Given the description of an element on the screen output the (x, y) to click on. 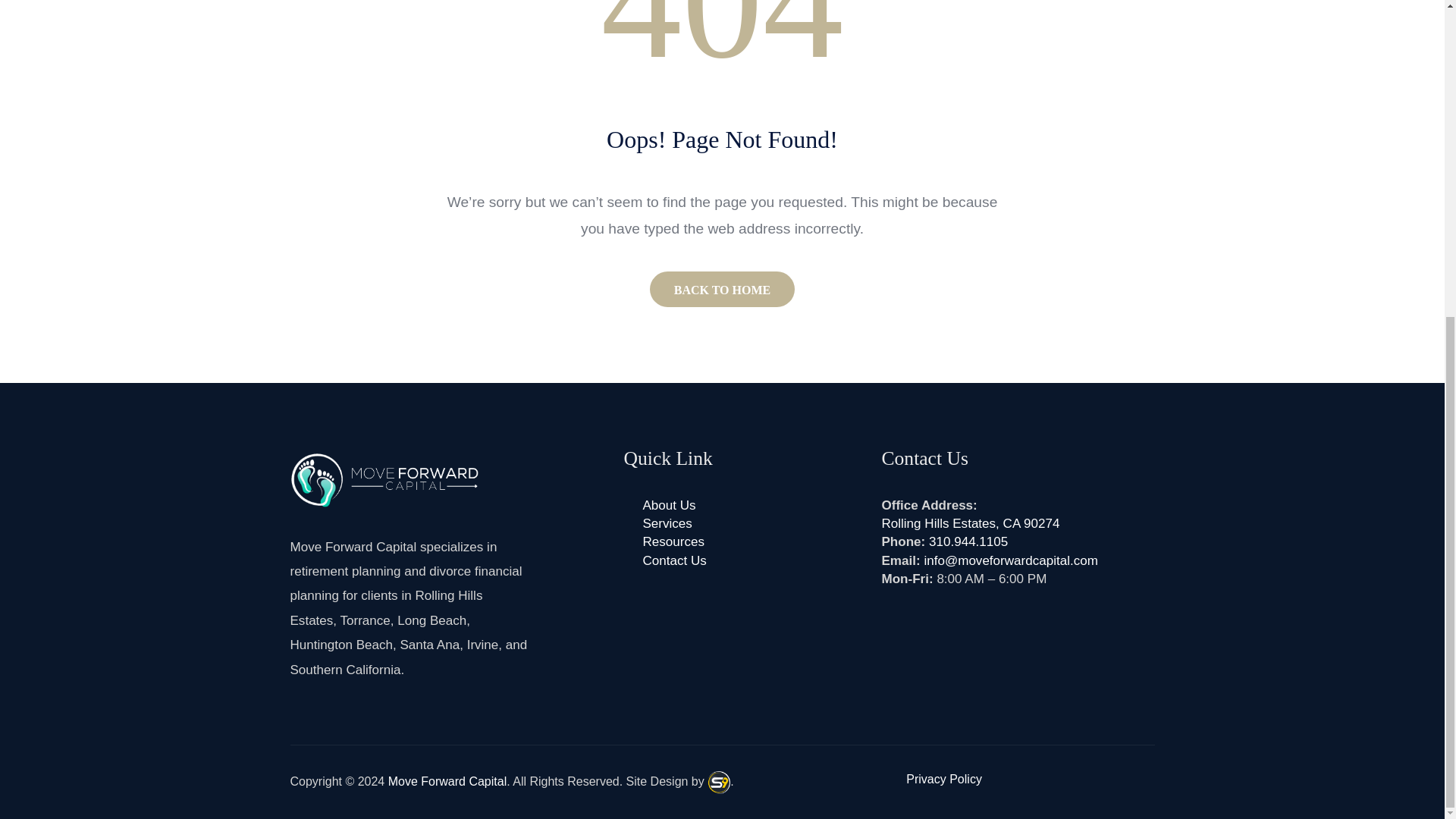
310.944.1105 (967, 541)
Resources (672, 541)
BACK TO HOME (721, 289)
Rolling Hills Estates, CA 90274 (969, 523)
Move Forward Capital (447, 780)
About Us (668, 504)
Privacy Policy (943, 779)
Services (666, 523)
Contact Us (674, 560)
